Given the description of an element on the screen output the (x, y) to click on. 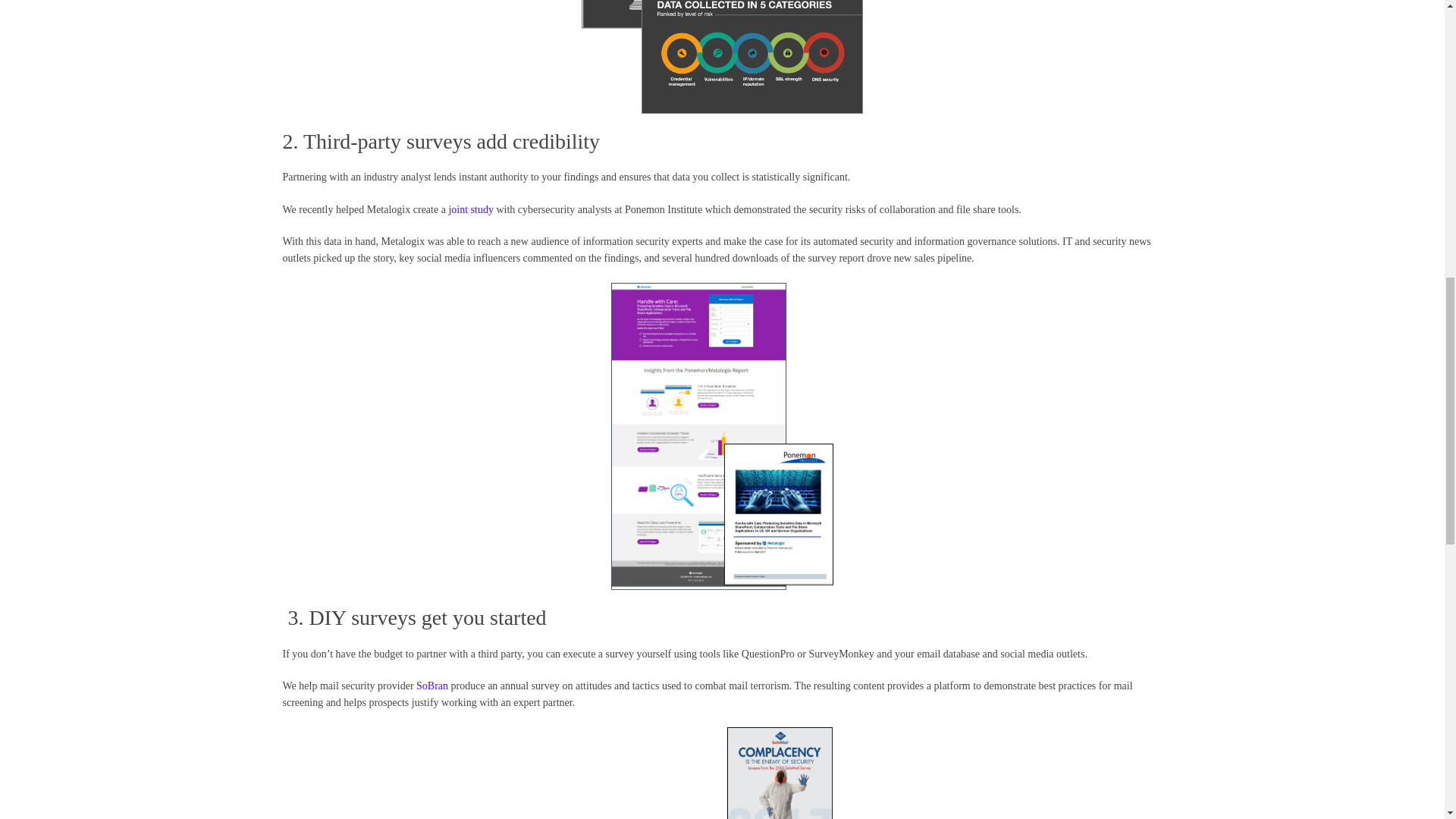
SoBran (432, 685)
joint study (470, 209)
